Given the description of an element on the screen output the (x, y) to click on. 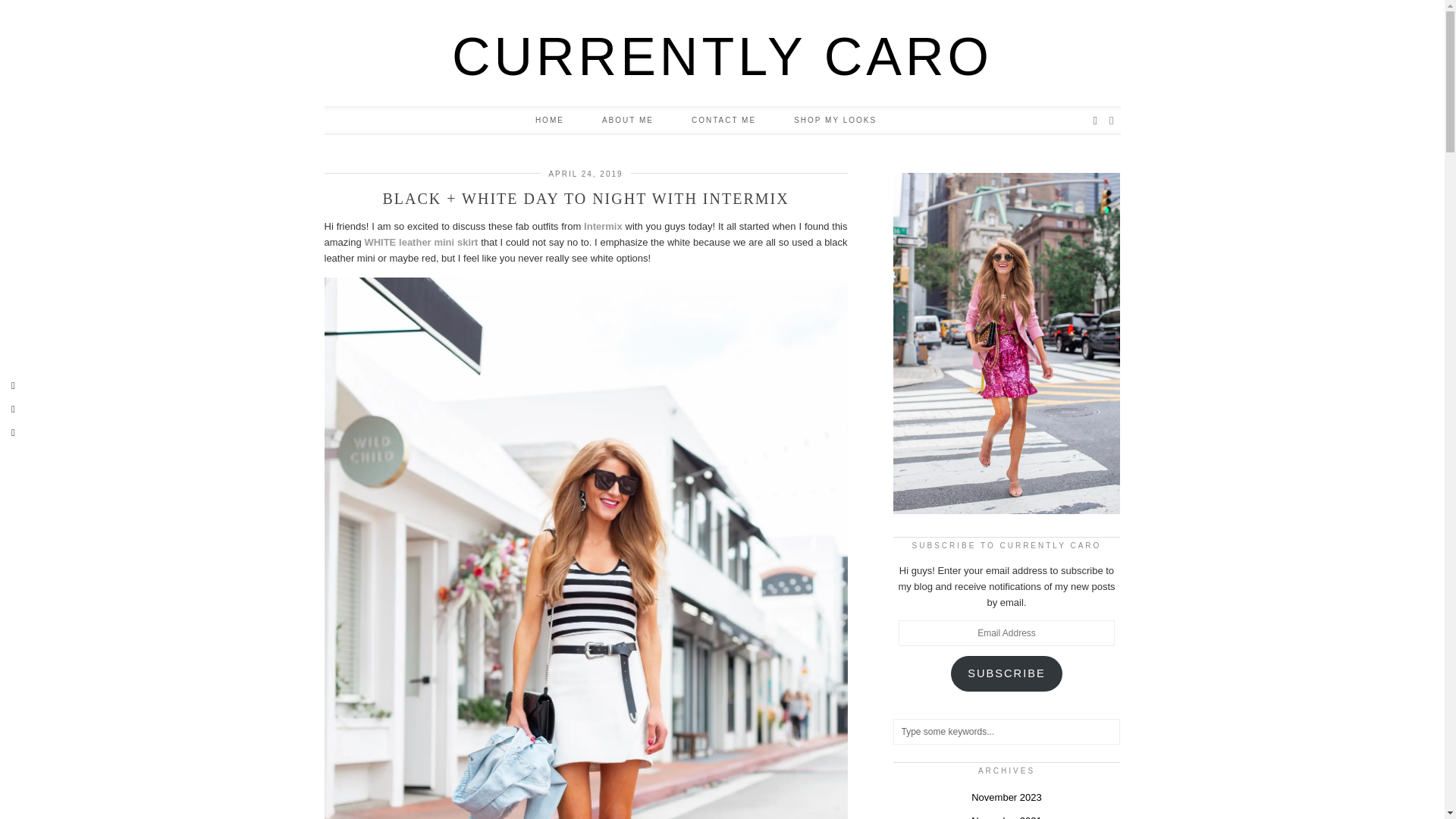
Intermix (603, 225)
WHITE leather mini skirt (420, 242)
SHOP MY LOOKS (834, 120)
SUBSCRIBE (1006, 673)
CURRENTLY CARO (721, 56)
CURRENTLY CARO (721, 56)
CONTACT ME (723, 120)
ABOUT ME (627, 120)
HOME (549, 120)
